Given the description of an element on the screen output the (x, y) to click on. 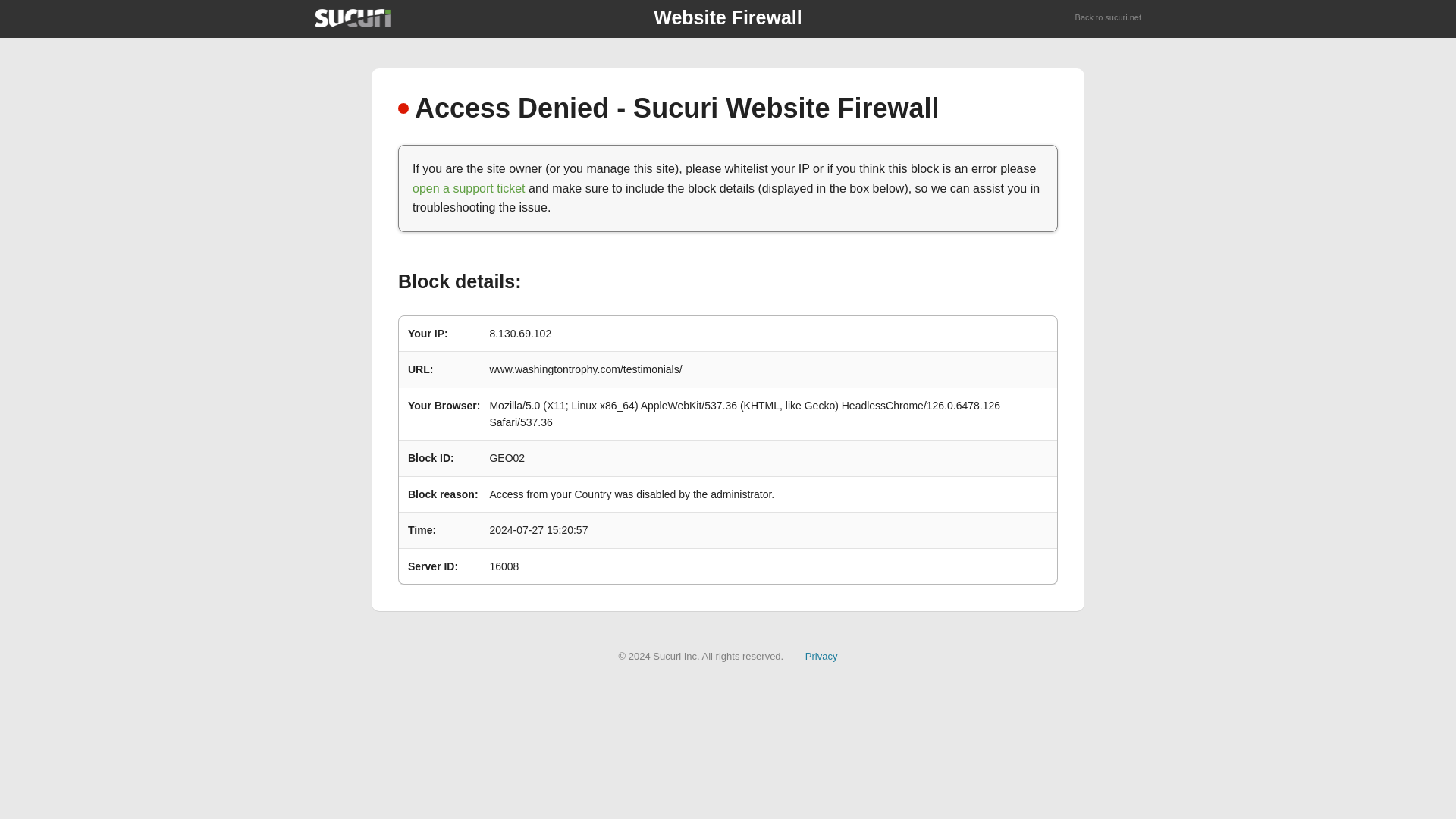
Privacy (821, 655)
open a support ticket (468, 187)
Back to sucuri.net (1108, 18)
